Given the description of an element on the screen output the (x, y) to click on. 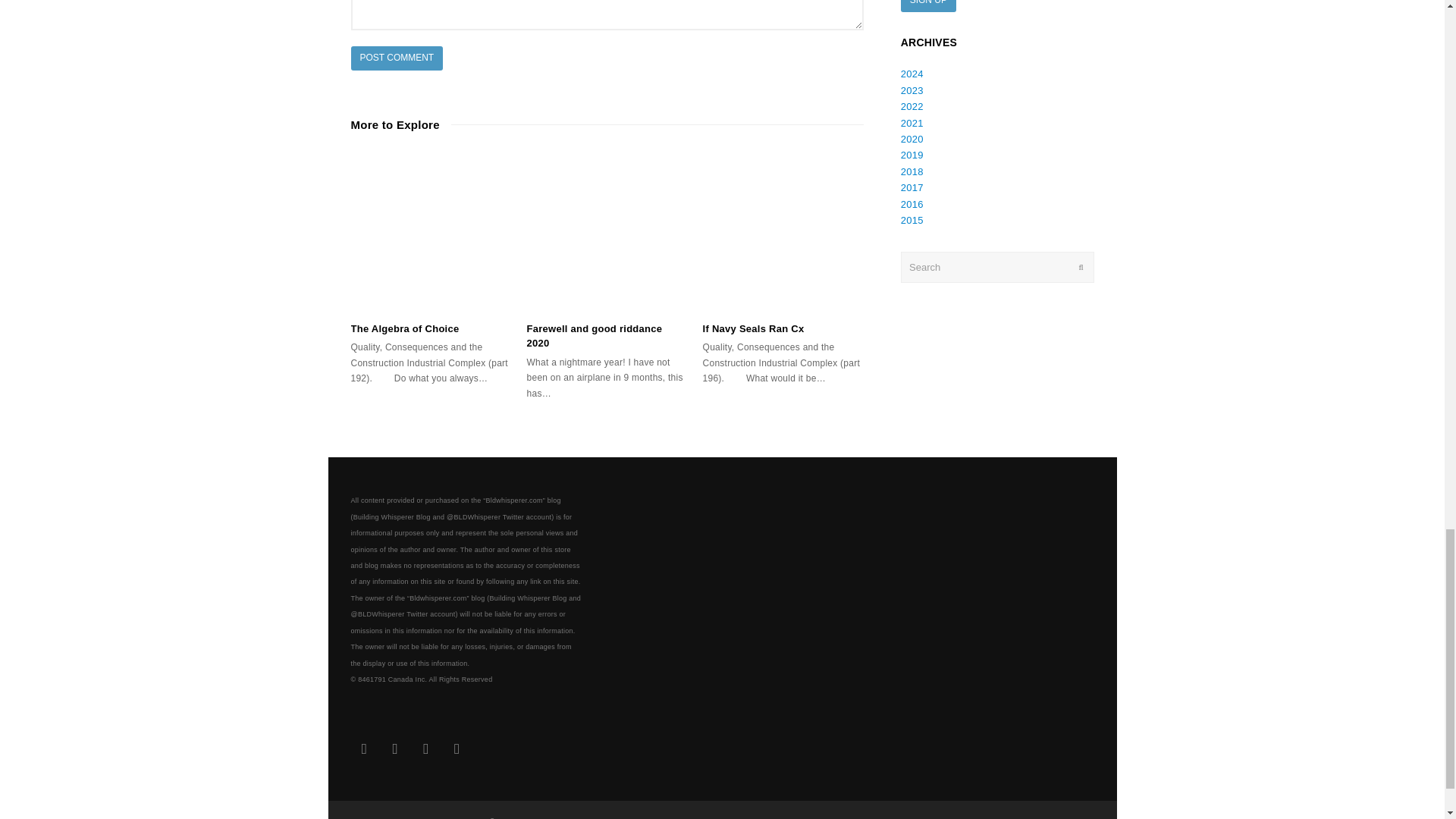
The Algebra of Choice (430, 230)
RSS (457, 748)
Youtube (425, 748)
Post Comment (396, 57)
Twitter (363, 748)
LinkedIn (395, 748)
Farewell and good riddance 2020 (607, 230)
If Navy Seals Ran Cx (783, 230)
The Algebra of Choice (404, 328)
Sign up (928, 6)
Post Comment (396, 57)
